Given the description of an element on the screen output the (x, y) to click on. 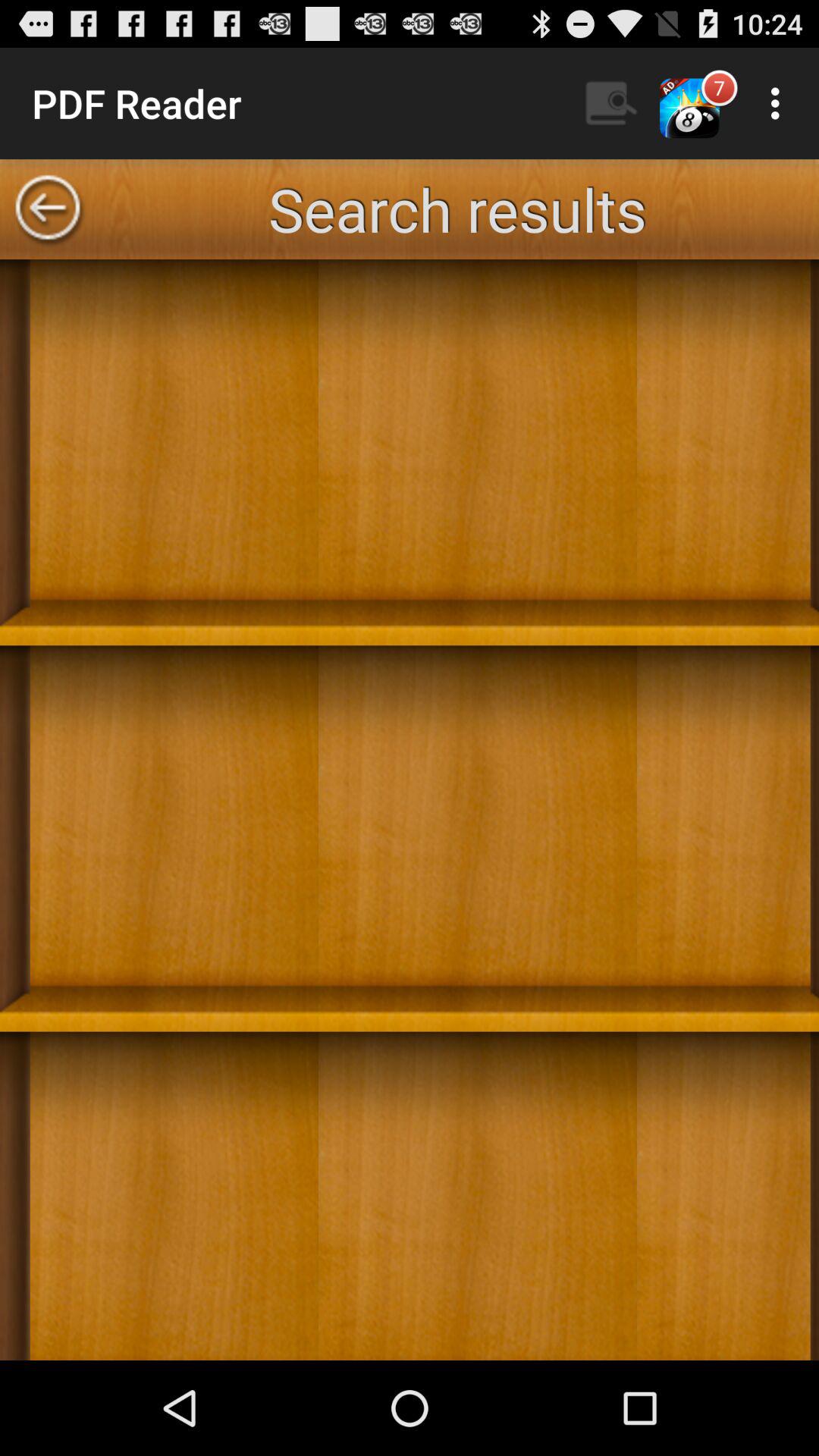
open the icon to the left of the search results app (47, 209)
